Given the description of an element on the screen output the (x, y) to click on. 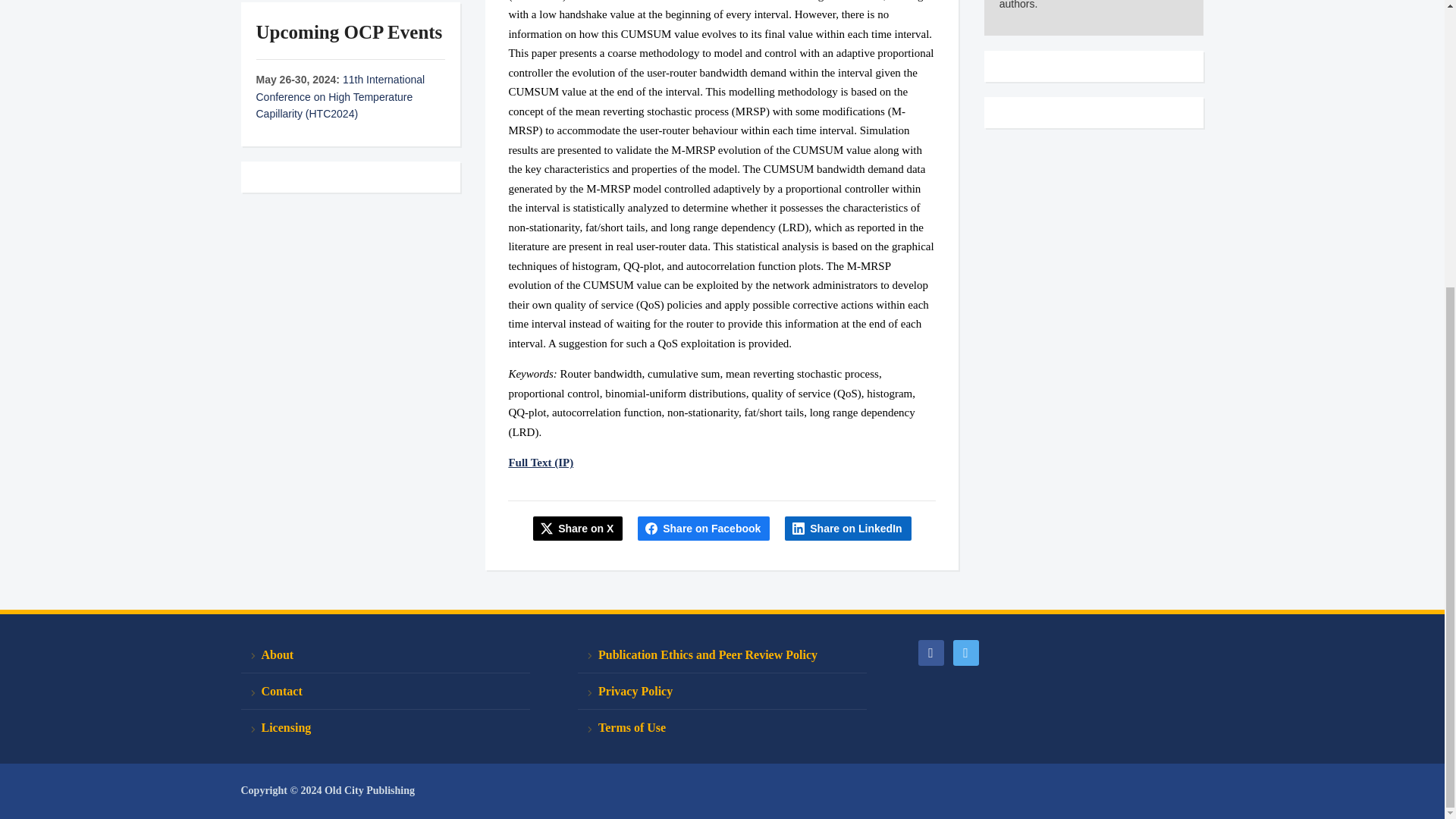
Contact (385, 691)
Licensing (385, 727)
Follow Me (965, 651)
Share on Facebook (703, 528)
facebook (930, 651)
Share on LinkedIn (847, 528)
Share this on Facebook (703, 528)
Share this on X (577, 528)
Terms of Use (722, 727)
Share on LinkedIn (847, 528)
